Given the description of an element on the screen output the (x, y) to click on. 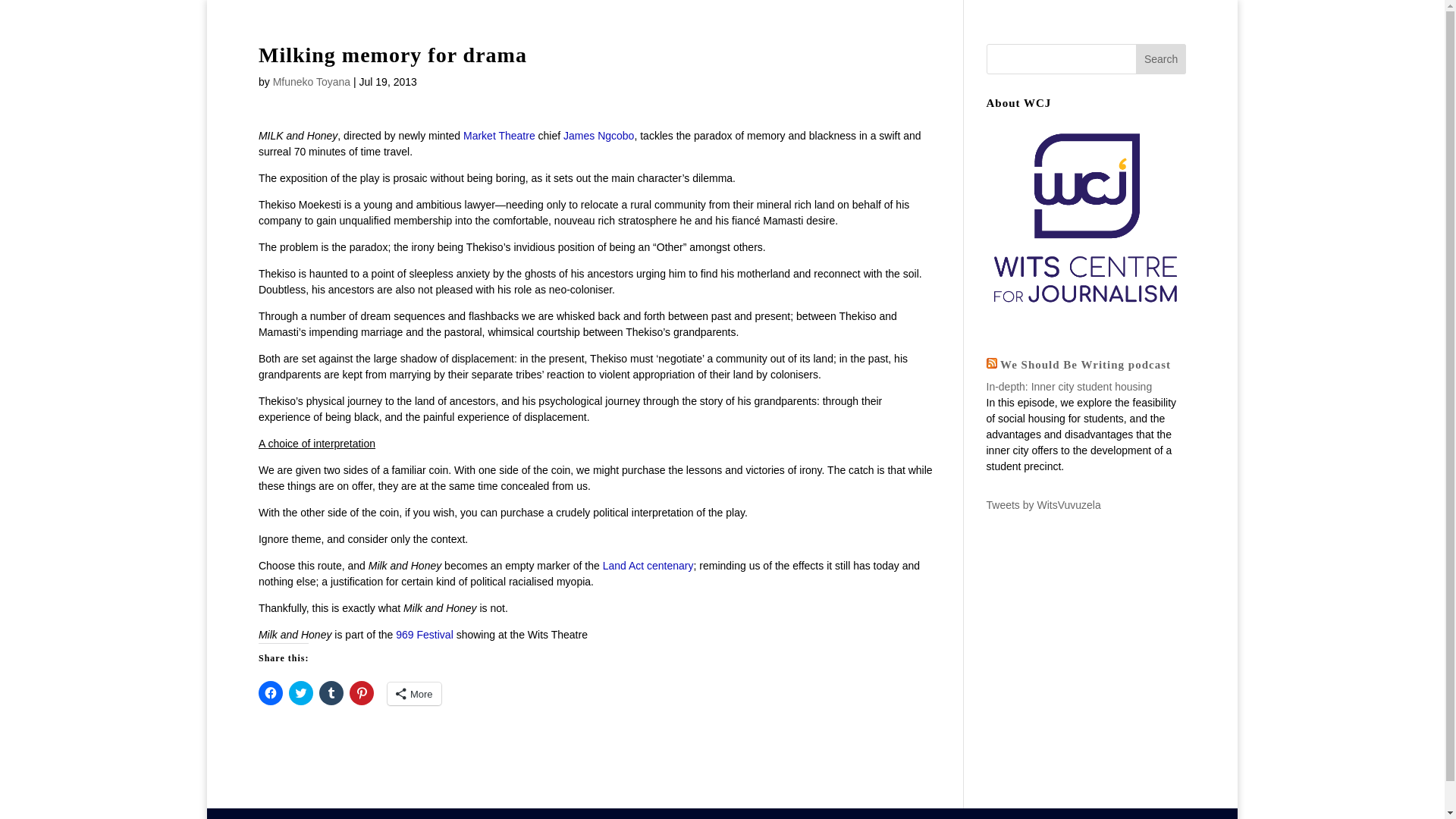
Click to share on Tumblr (330, 692)
James Ngcobo (598, 135)
Click to share on Pinterest (361, 692)
In-depth: Inner city student housing (1068, 386)
Click to share on Twitter (300, 692)
Search (1160, 59)
969 Festival (424, 634)
We Should Be Writing podcast (1085, 364)
James Ngcobo (598, 135)
Market Theatre (497, 135)
Land Act centenary (648, 565)
More (414, 693)
Click to share on Facebook (270, 692)
Tweets by WitsVuvuzela (1042, 504)
 Market Theatre (497, 135)
